Given the description of an element on the screen output the (x, y) to click on. 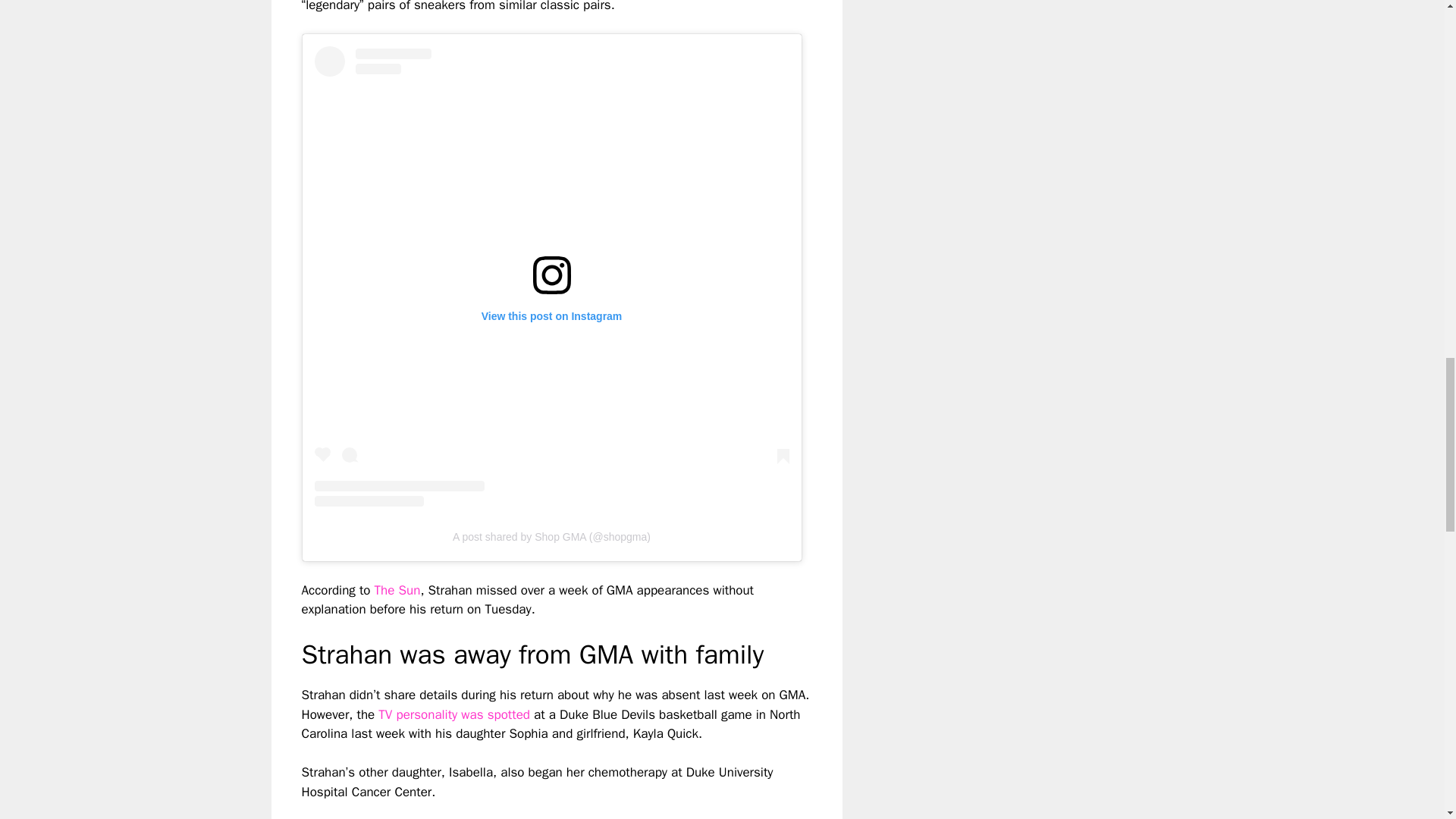
The Sun (397, 590)
TV personality was spotted (453, 714)
